Given the description of an element on the screen output the (x, y) to click on. 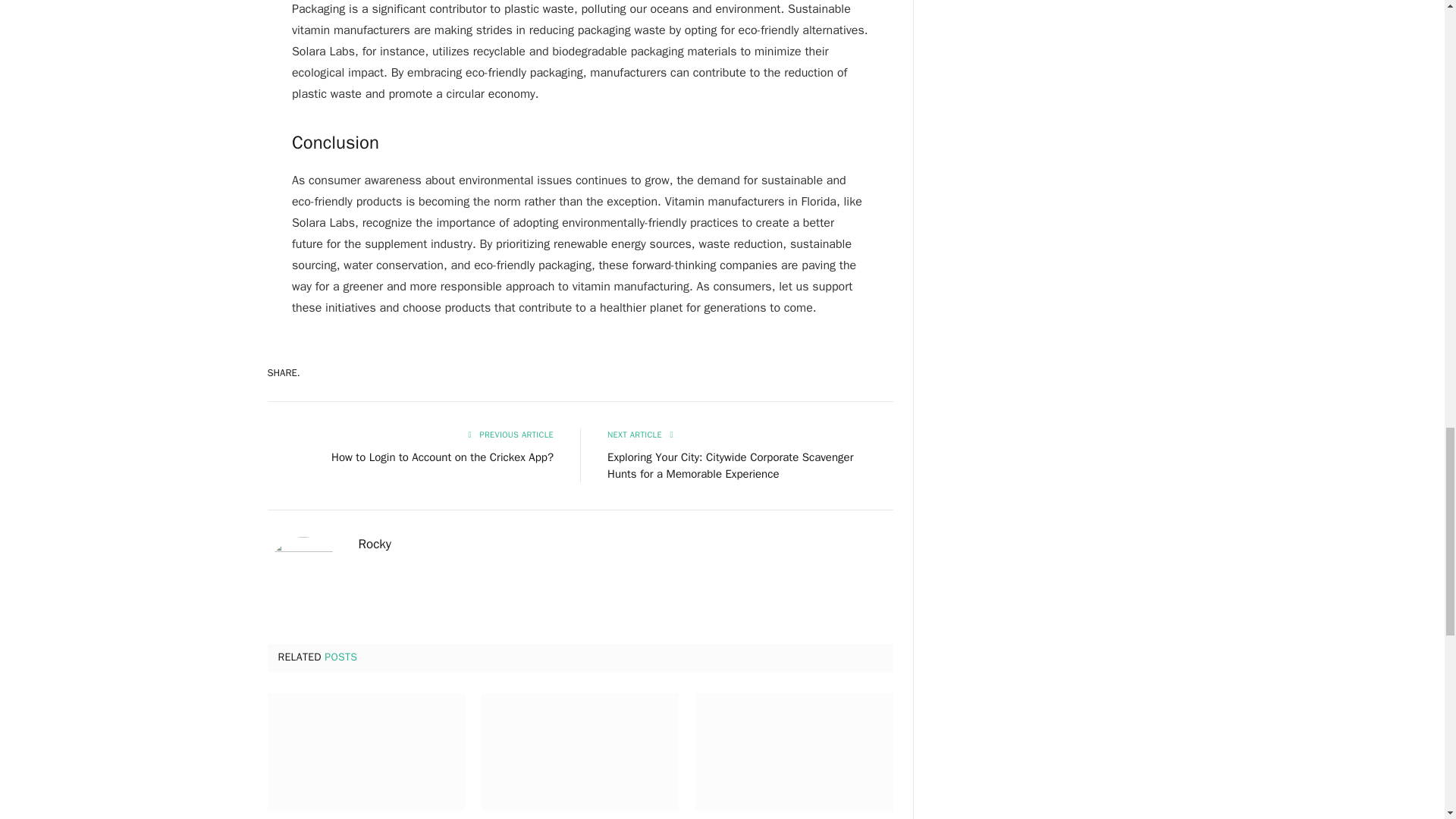
Share on Twitter (654, 372)
Share on LinkedIn (760, 372)
Share on Pinterest (707, 372)
Share on Facebook (601, 372)
